Given the description of an element on the screen output the (x, y) to click on. 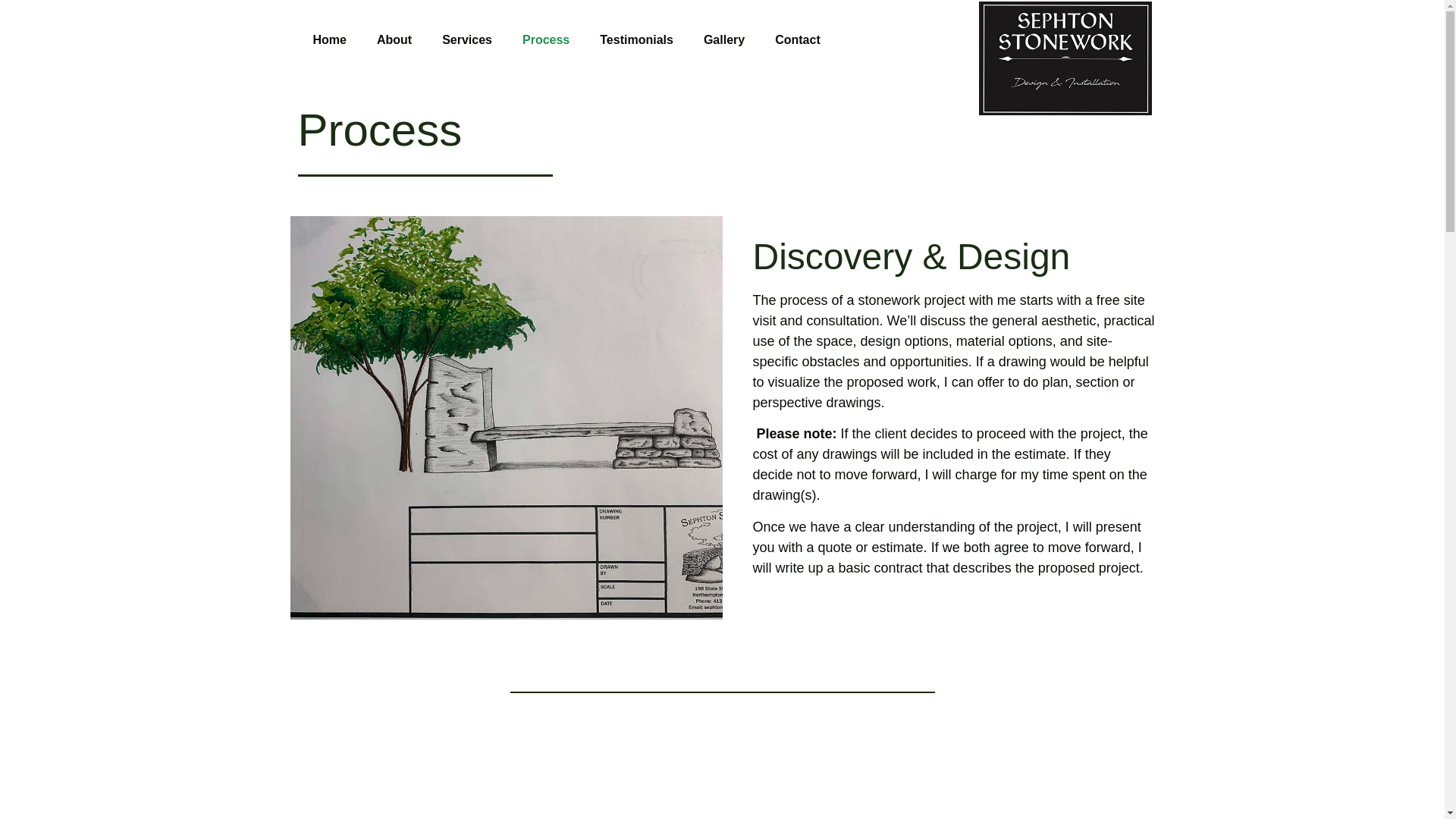
Contact (797, 39)
Services (466, 39)
Gallery (724, 39)
Testimonials (636, 39)
About (393, 39)
Home (329, 39)
Process (545, 39)
